Given the description of an element on the screen output the (x, y) to click on. 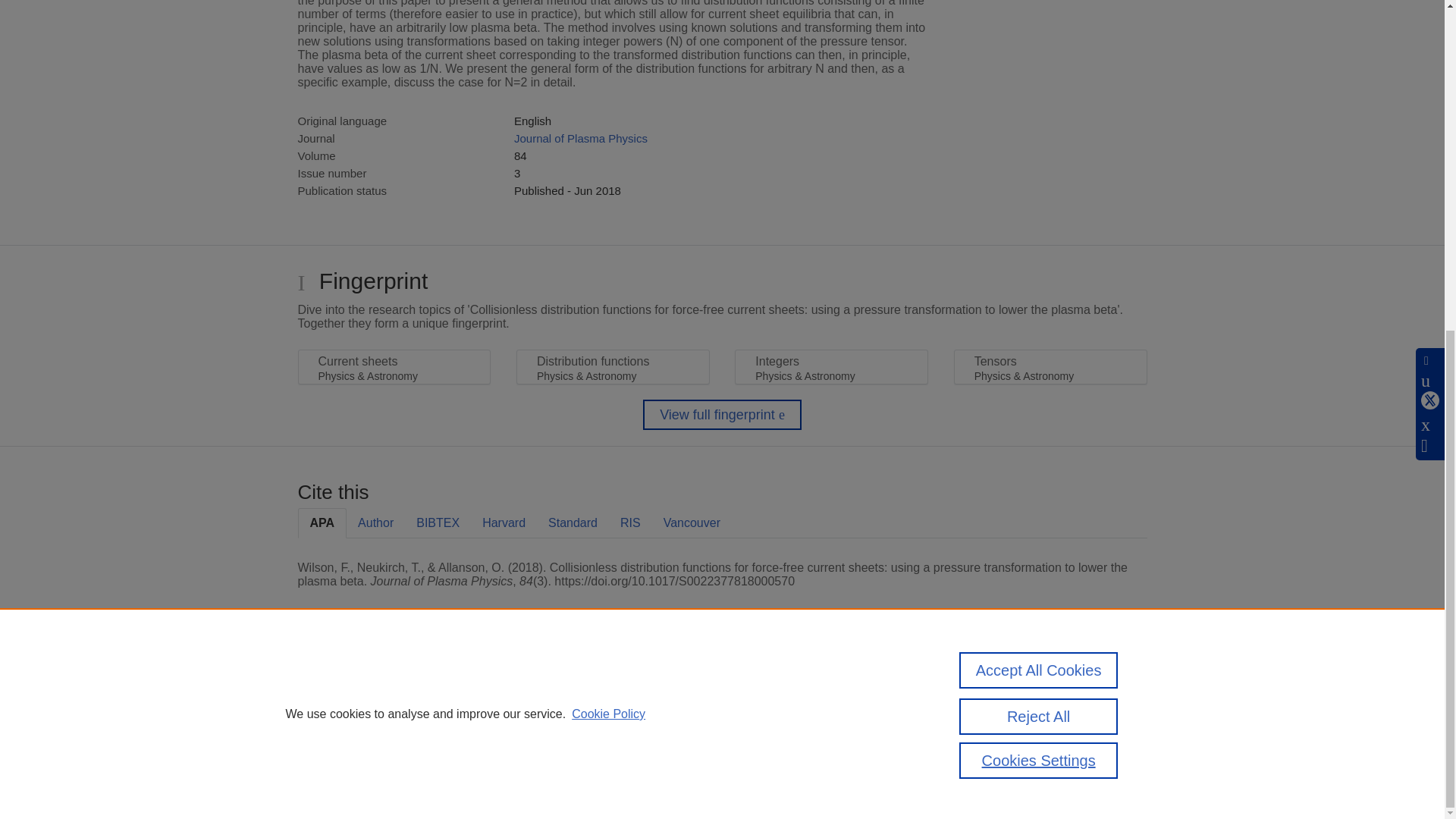
Elsevier B.V. (506, 707)
View full fingerprint (722, 414)
use of cookies (796, 739)
Cookies Settings (334, 760)
Log in to Pure (327, 781)
Scopus (394, 686)
Pure (362, 686)
Journal of Plasma Physics (580, 137)
